Given the description of an element on the screen output the (x, y) to click on. 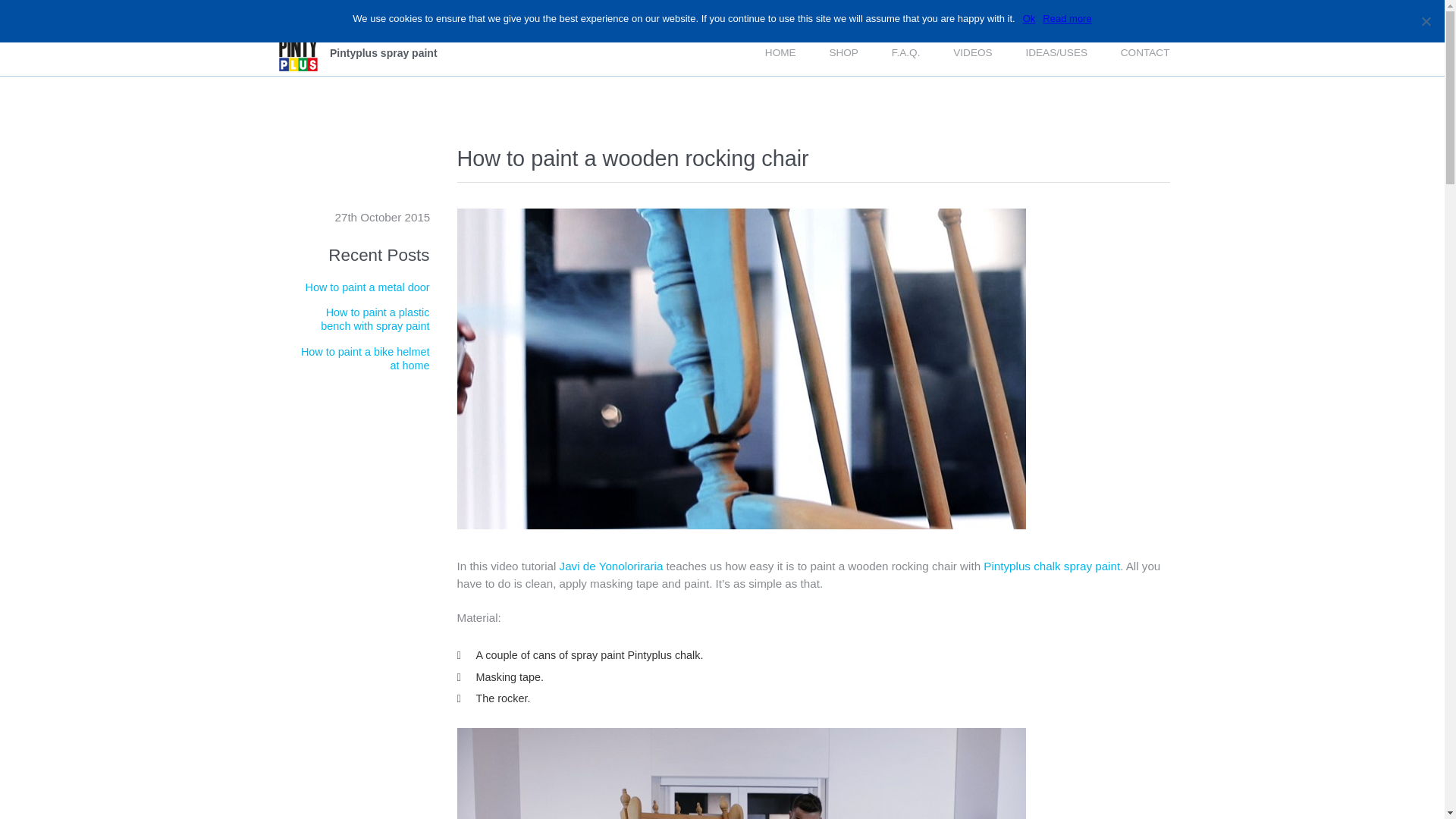
Search (1033, 14)
Search... (982, 14)
F.A.Q. (905, 53)
Pintyplus spray paint (355, 51)
HOME (780, 53)
VIDEOS (972, 53)
Search (1033, 14)
Javi de Yonoloriraria (611, 565)
CONTACT (1145, 53)
No (1425, 20)
How to paint a metal door (367, 287)
How to paint a plastic bench with spray paint (374, 319)
SHOP (843, 53)
MY ACCOUNT (1139, 14)
How to paint a bike helmet at home (365, 358)
